Given the description of an element on the screen output the (x, y) to click on. 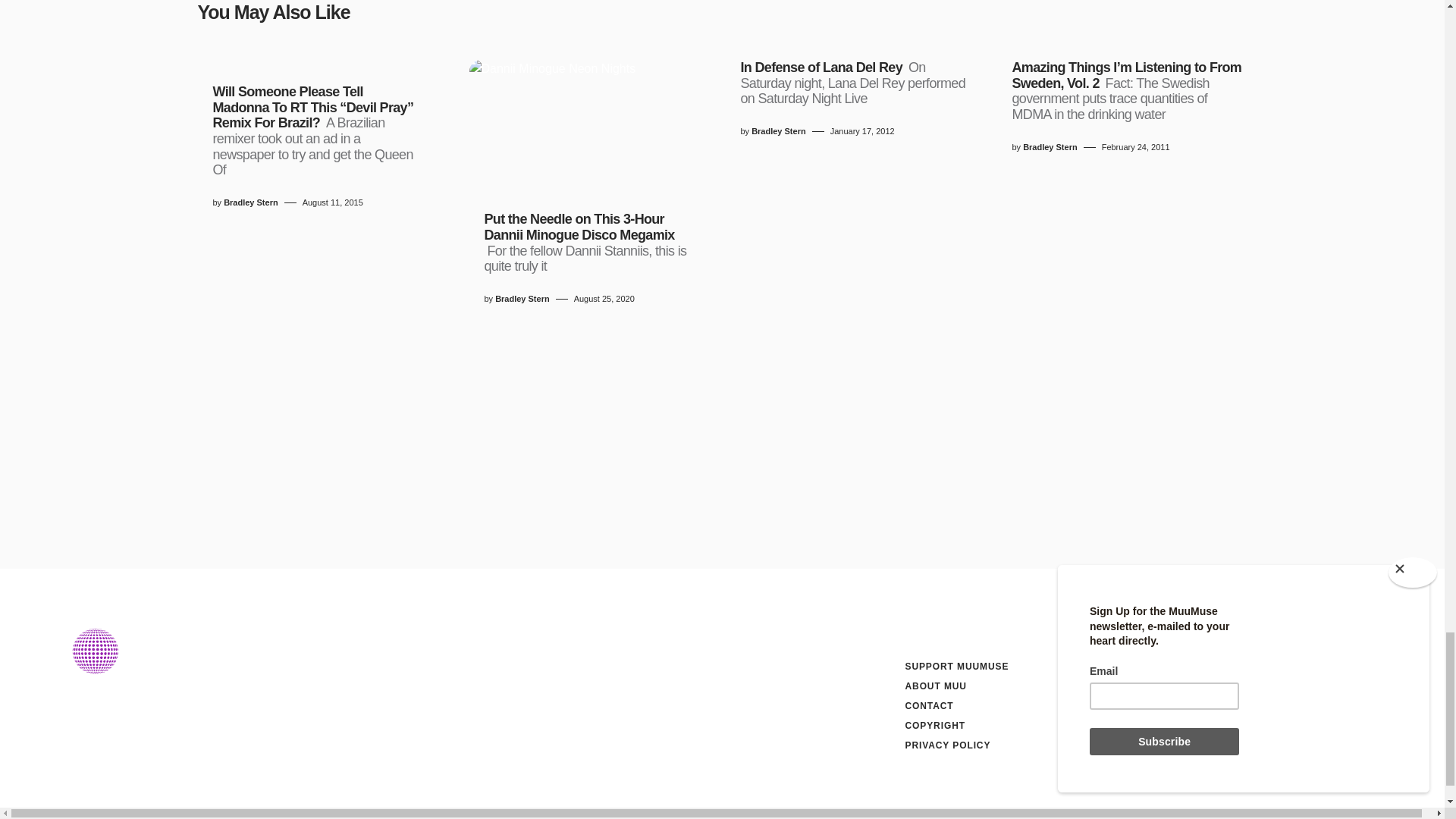
View all posts by Bradley Stern (522, 298)
View all posts by Bradley Stern (251, 202)
View all posts by Bradley Stern (1050, 146)
View all posts by Bradley Stern (778, 131)
